Given the description of an element on the screen output the (x, y) to click on. 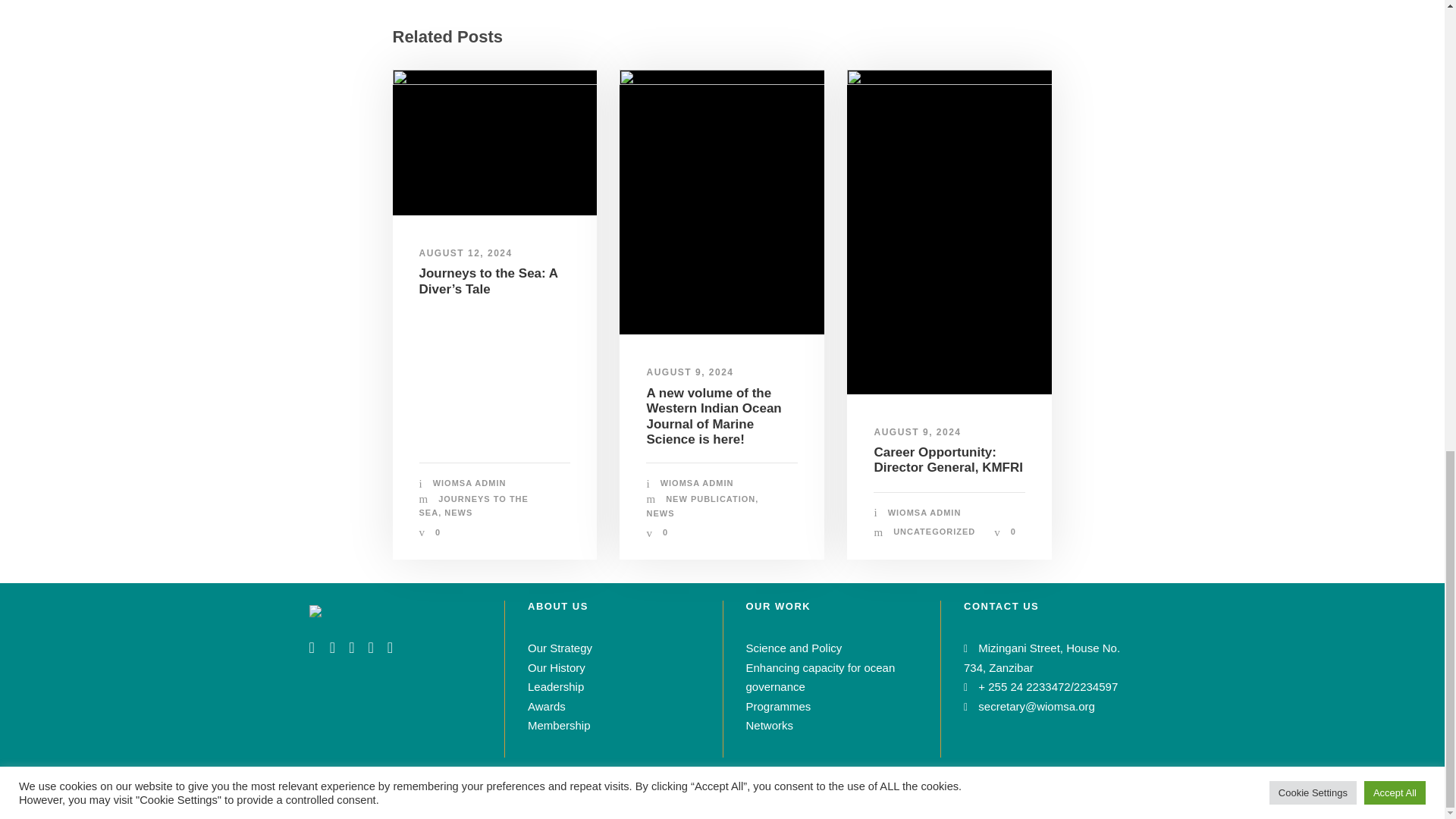
WIOMSA ADMIN (469, 482)
Posts by WIOMSA Admin (469, 482)
Posts by WIOMSA Admin (697, 482)
NEWS (457, 511)
WIOMSA ADMIN (697, 482)
AUGUST 12, 2024 (465, 253)
Posts by WIOMSA Admin (924, 511)
AUGUST 9, 2024 (689, 371)
JOURNEYS TO THE SEA (473, 505)
